Given the description of an element on the screen output the (x, y) to click on. 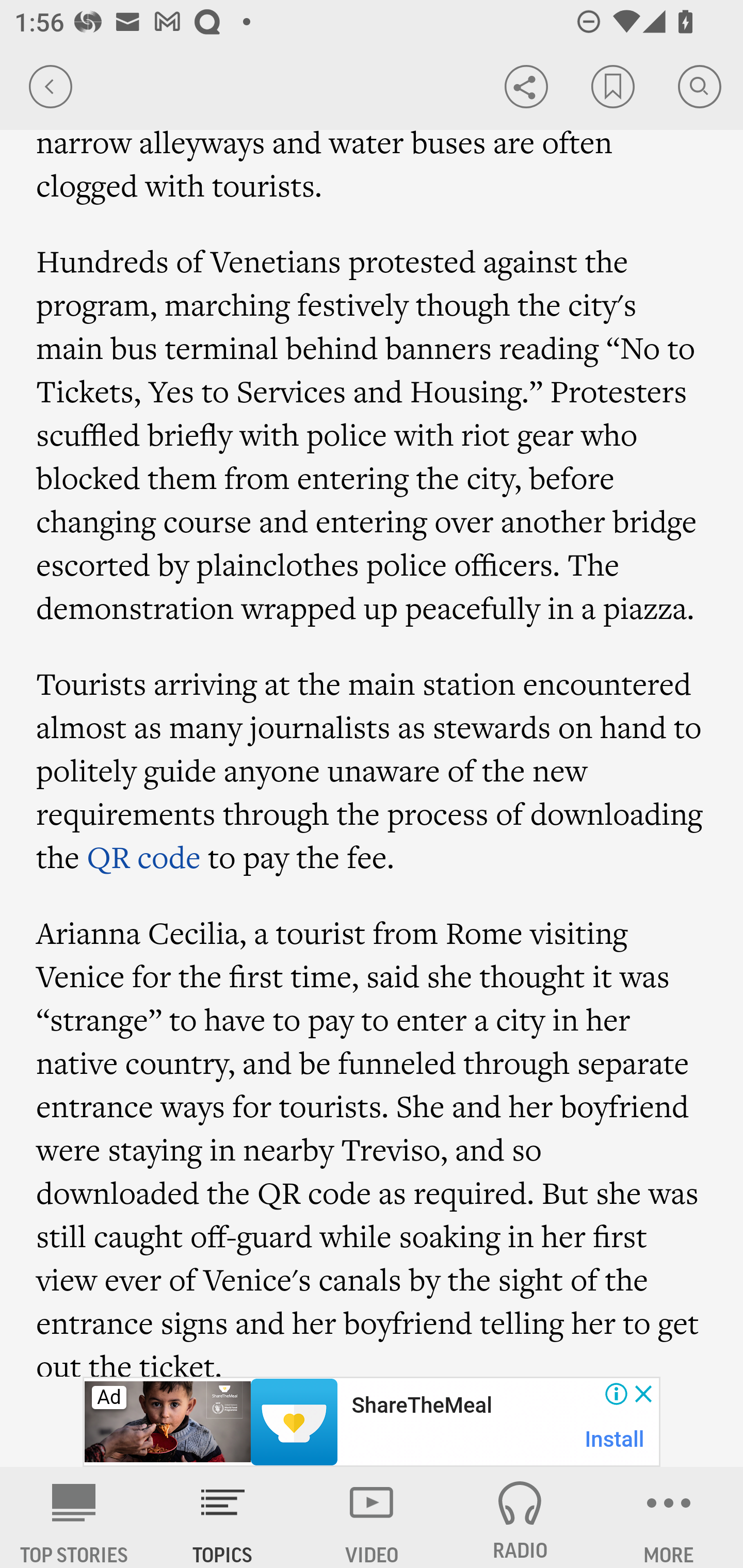
QR code (144, 857)
ShareTheMeal (420, 1405)
Install (614, 1438)
AP News TOP STORIES (74, 1517)
TOPICS (222, 1517)
VIDEO (371, 1517)
RADIO (519, 1517)
MORE (668, 1517)
